Given the description of an element on the screen output the (x, y) to click on. 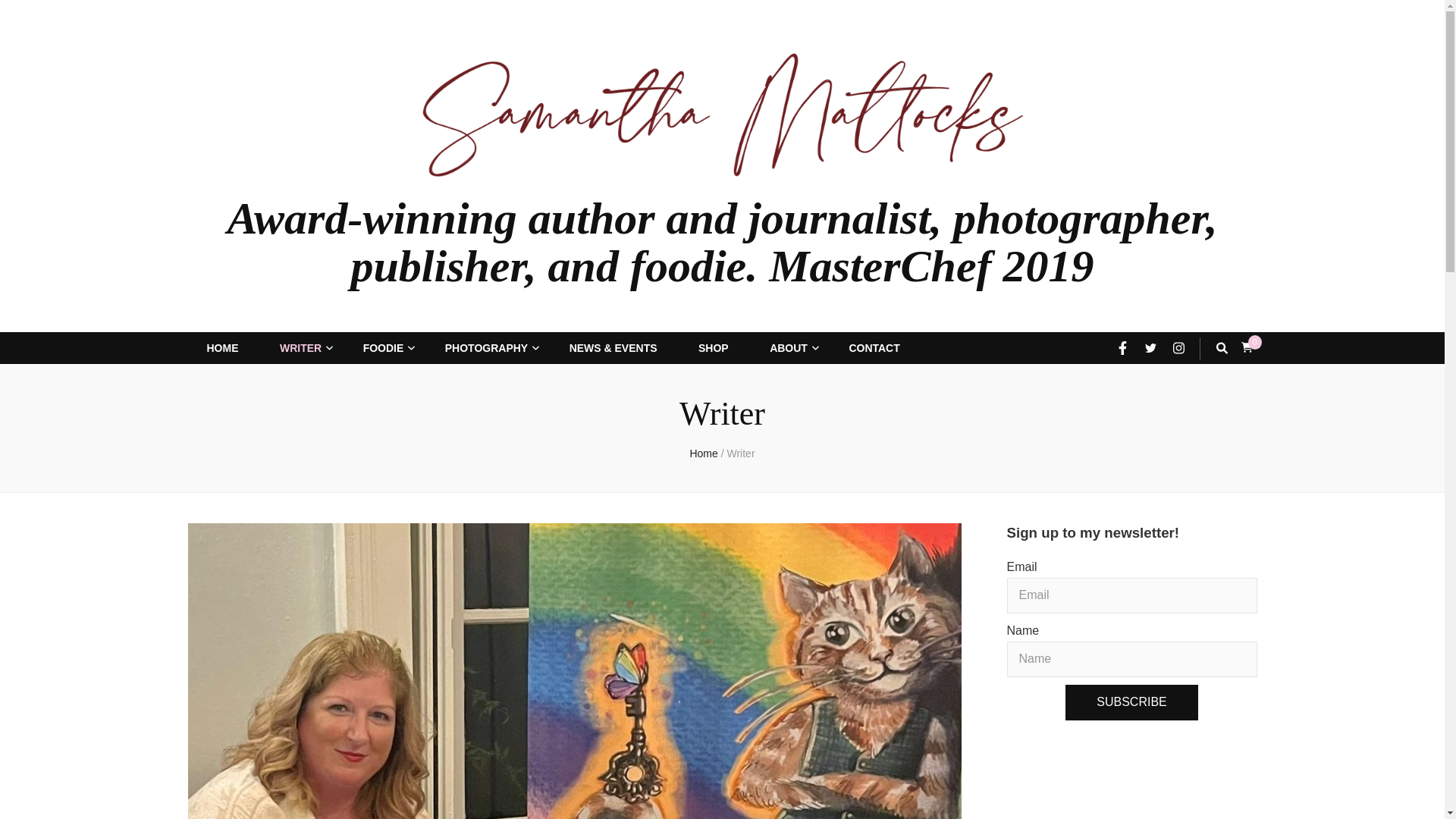
HOME (222, 348)
Writer (740, 453)
Home (702, 453)
FOODIE (383, 348)
SHOP (713, 348)
ABOUT (789, 348)
WRITER (300, 348)
SUBSCRIBE (1130, 702)
CONTACT (873, 348)
PHOTOGRAPHY (486, 348)
